Given the description of an element on the screen output the (x, y) to click on. 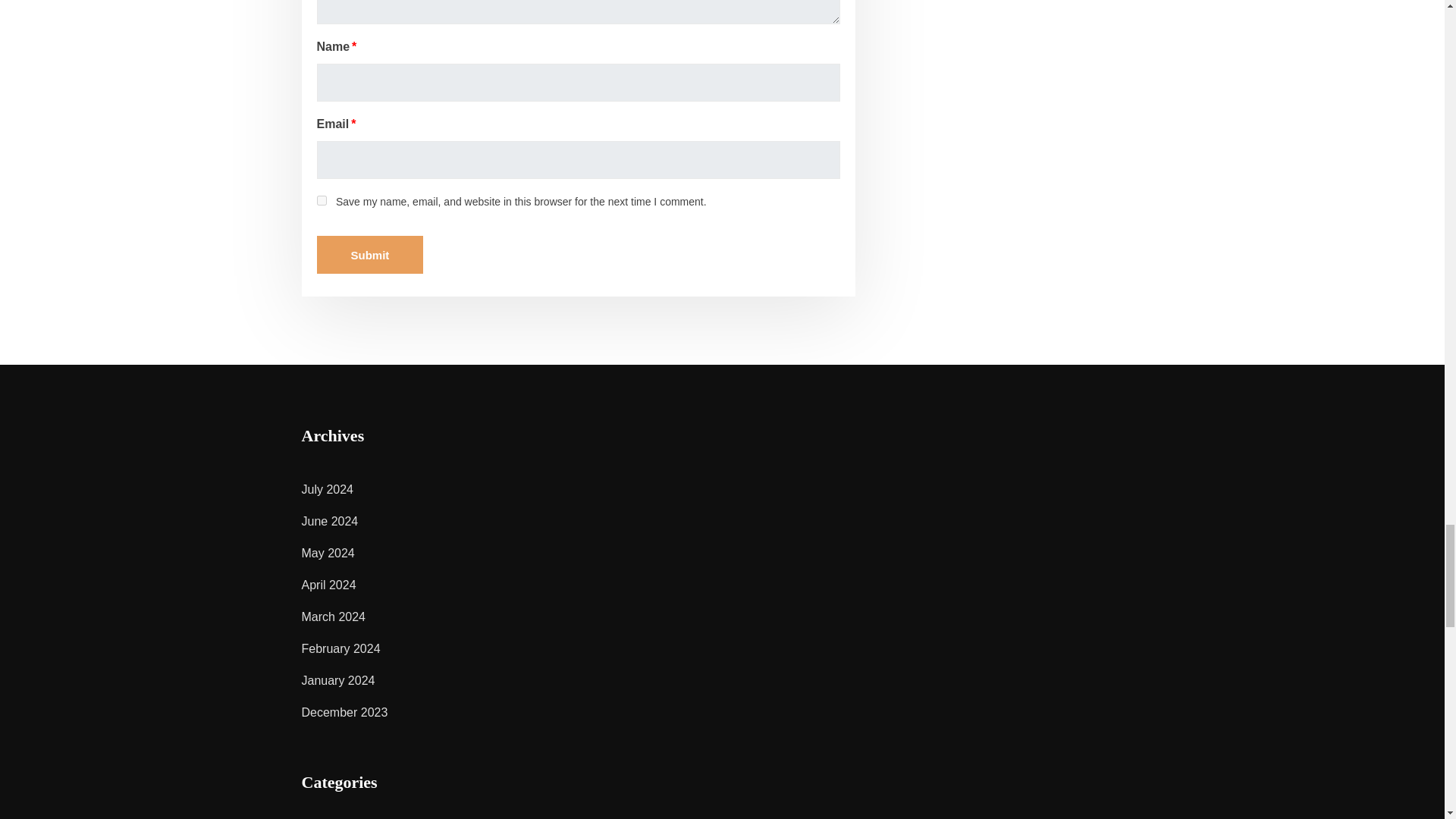
May 2024 (328, 553)
June 2024 (329, 521)
April 2024 (328, 584)
March 2024 (333, 616)
Submit (370, 254)
yes (321, 200)
July 2024 (327, 489)
Submit (370, 254)
February 2024 (340, 648)
